Given the description of an element on the screen output the (x, y) to click on. 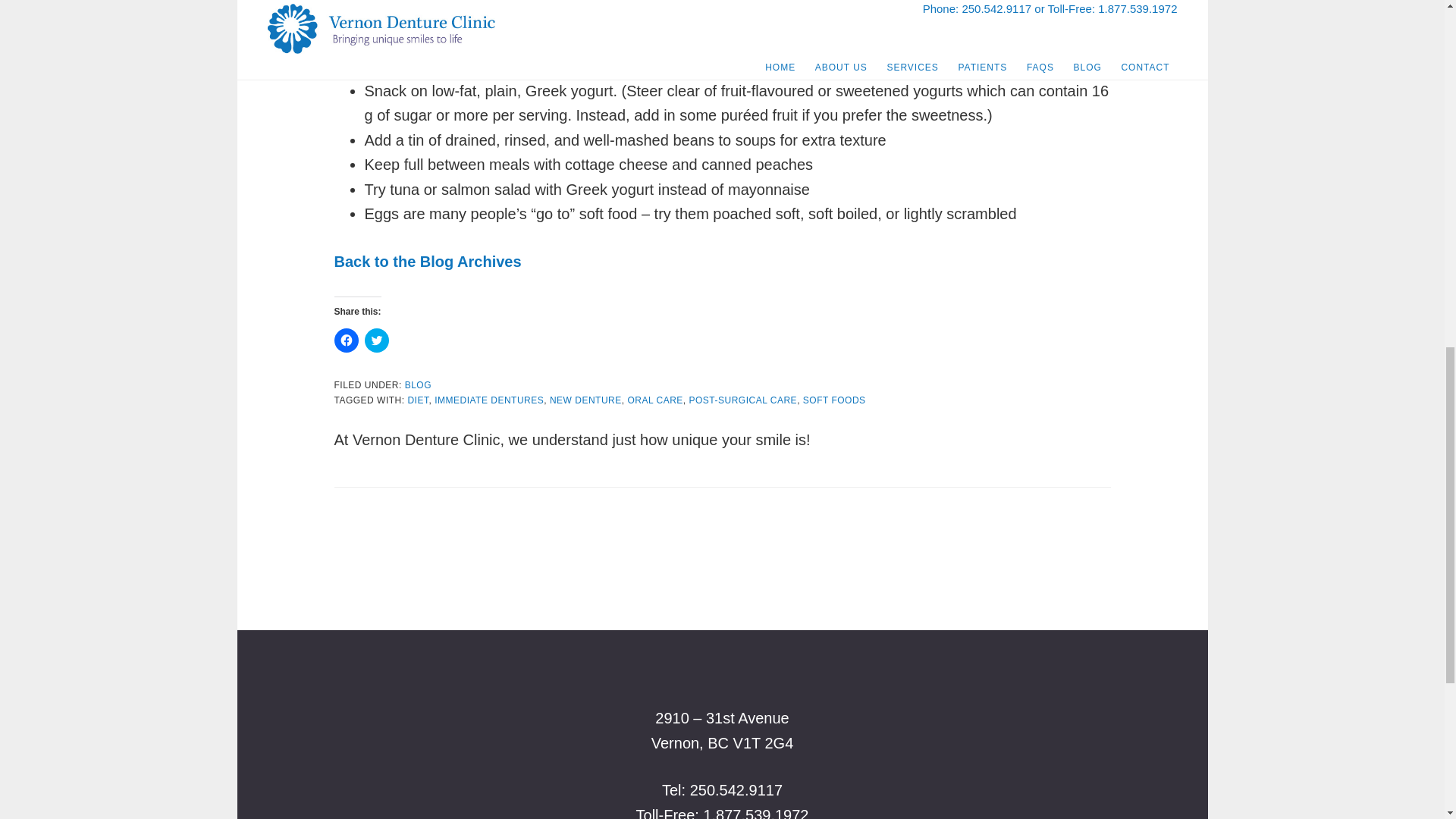
Back to the Blog Archives (427, 261)
Click to share on Facebook (345, 340)
Click to share on Twitter (376, 340)
